Given the description of an element on the screen output the (x, y) to click on. 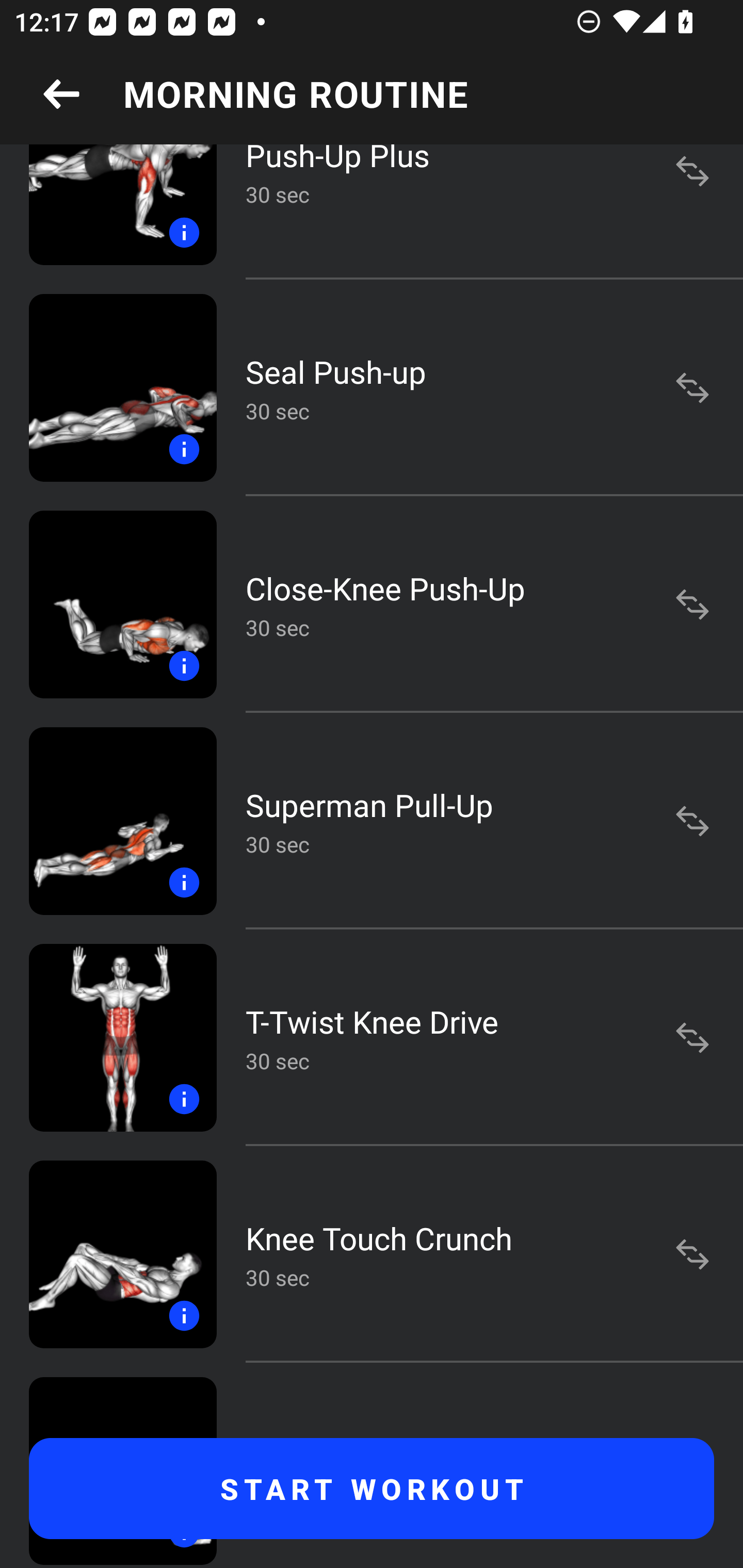
Push-Up Plus 30 sec (371, 211)
Seal Push-up 30 sec (371, 387)
Close-Knee Push-Up 30 sec (371, 604)
Superman Pull-Up 30 sec (371, 821)
T-Twist Knee Drive 30 sec (371, 1037)
Knee Touch Crunch 30 sec (371, 1254)
START WORKOUT (371, 1488)
